Given the description of an element on the screen output the (x, y) to click on. 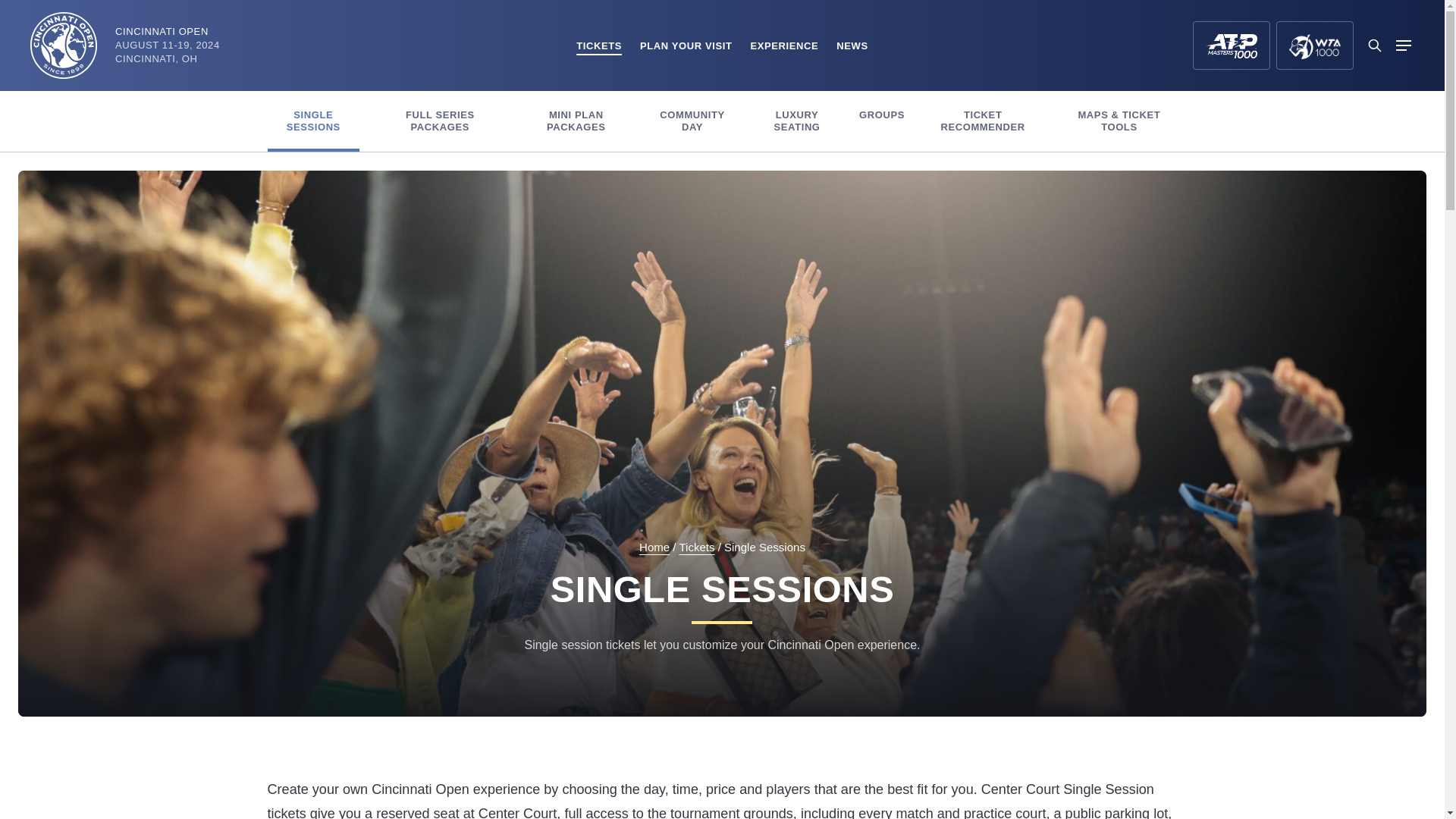
ATP (1230, 45)
EXPERIENCE (784, 45)
WTA (1315, 45)
PLAN YOUR VISIT (686, 45)
NEWS (851, 45)
TICKETS (598, 45)
Cincinnati Open (63, 45)
search (1374, 45)
